Given the description of an element on the screen output the (x, y) to click on. 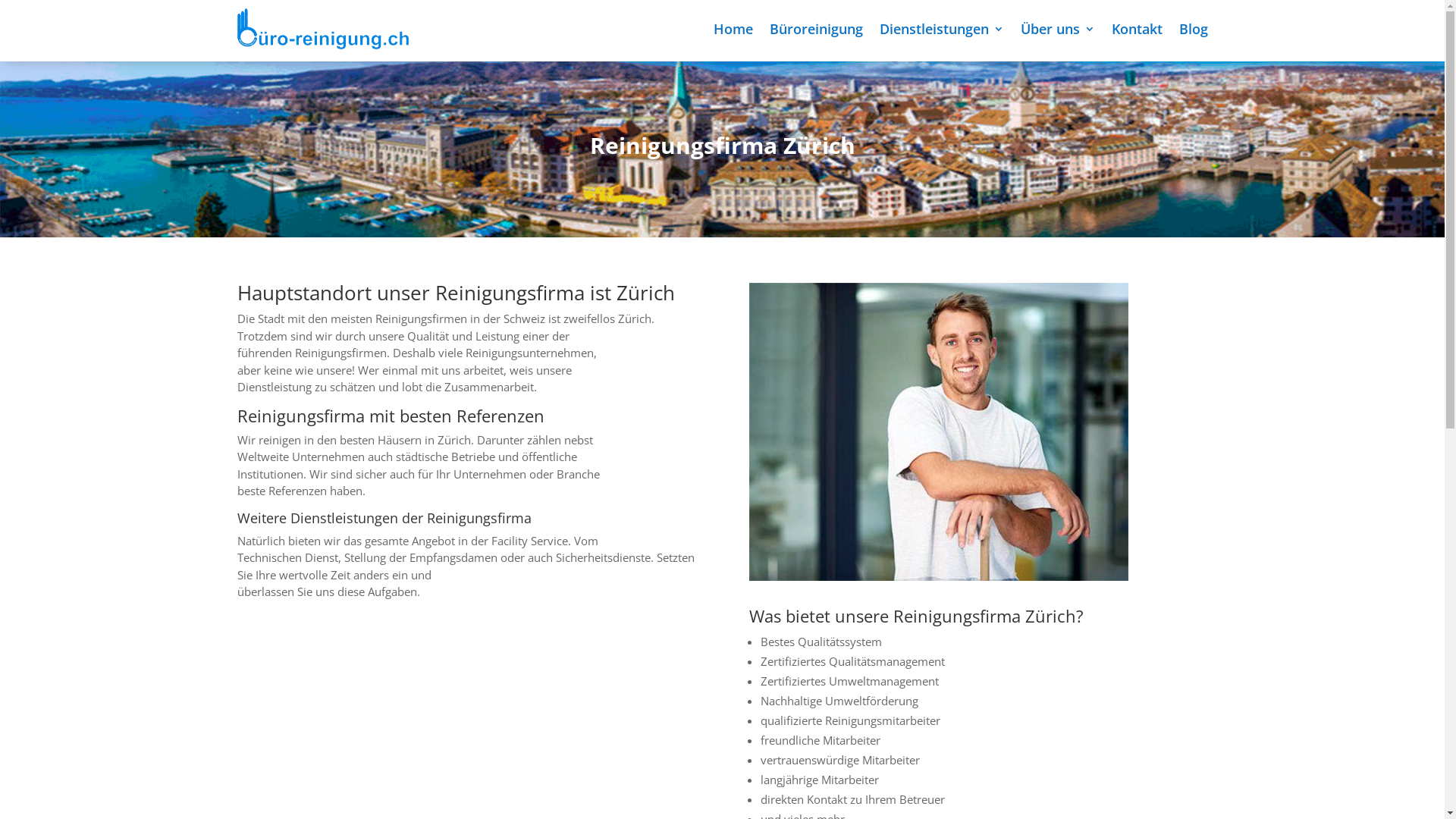
Dienstleistungen Element type: text (941, 28)
Blog Element type: text (1192, 28)
Home Element type: text (732, 28)
Kontakt Element type: text (1136, 28)
